Given the description of an element on the screen output the (x, y) to click on. 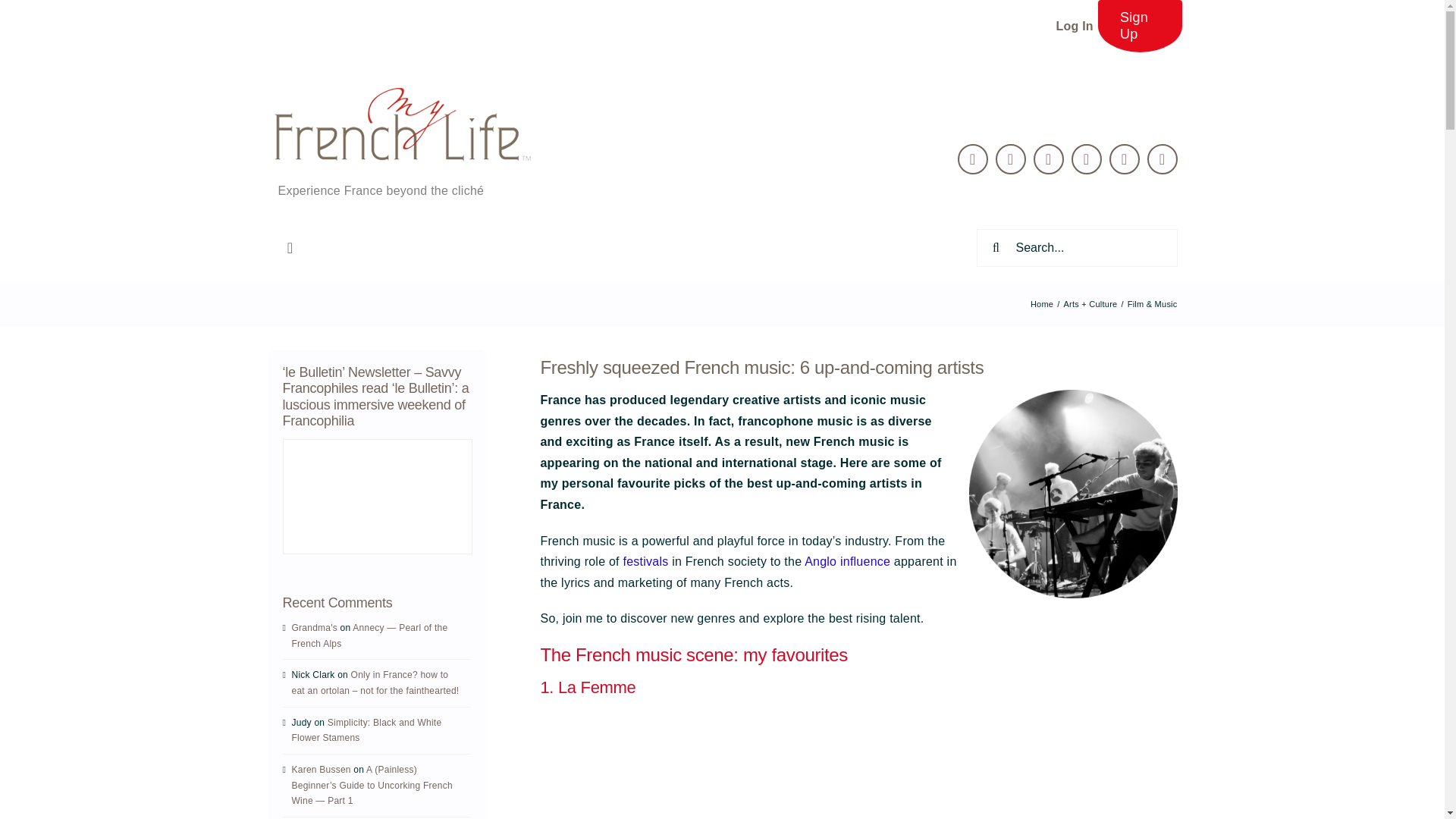
YouTube (1124, 159)
Log In (1074, 25)
Anglo influence (847, 561)
Sign Up (1139, 26)
Toggle Navigation (289, 247)
festivals (645, 561)
LinkedIn (1048, 159)
Facebook (1010, 159)
Pinterest (1086, 159)
Instagram (1162, 159)
